Given the description of an element on the screen output the (x, y) to click on. 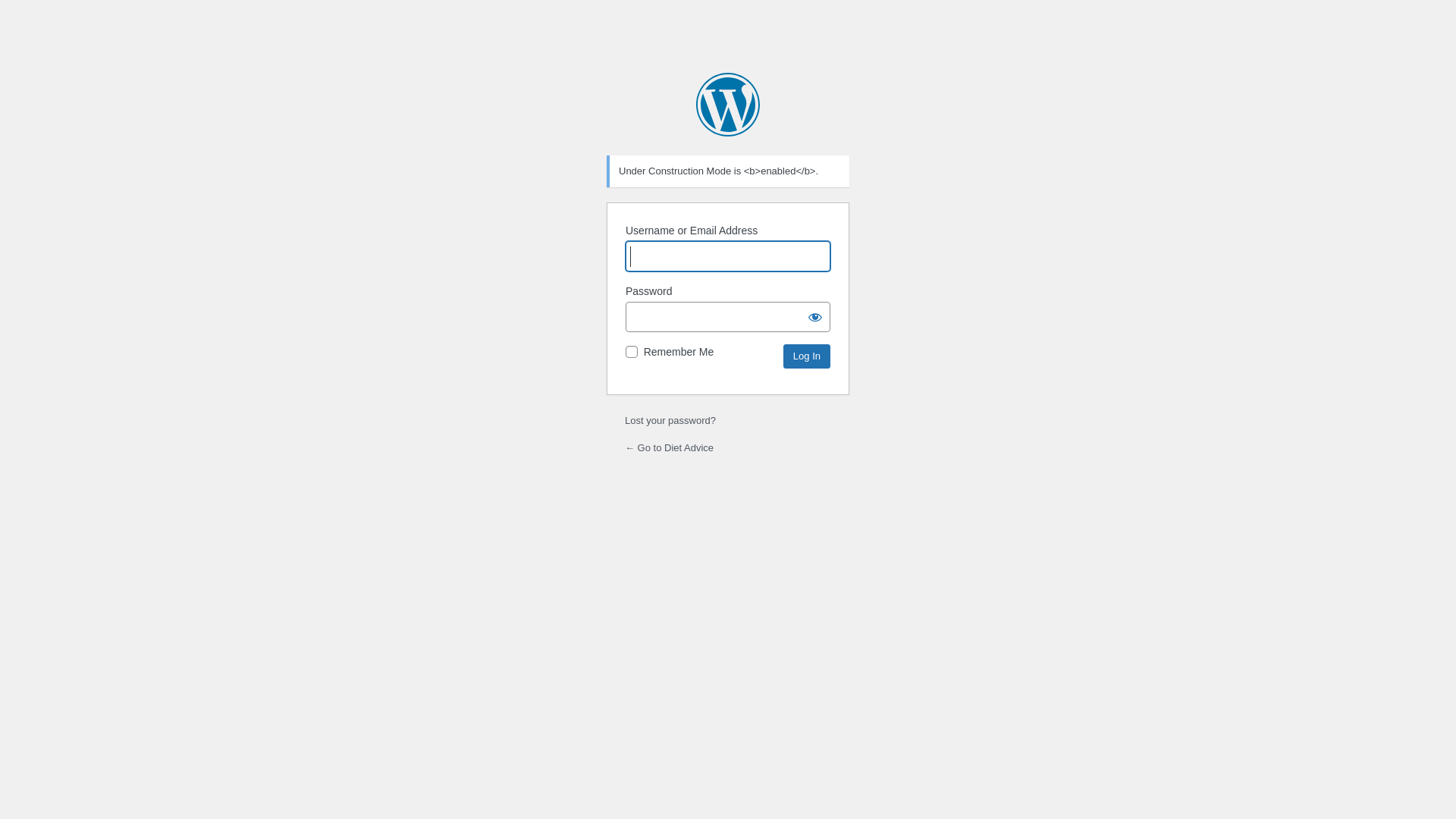
Log In Element type: text (806, 356)
Powered by WordPress Element type: text (727, 104)
Lost your password? Element type: text (669, 420)
